Given the description of an element on the screen output the (x, y) to click on. 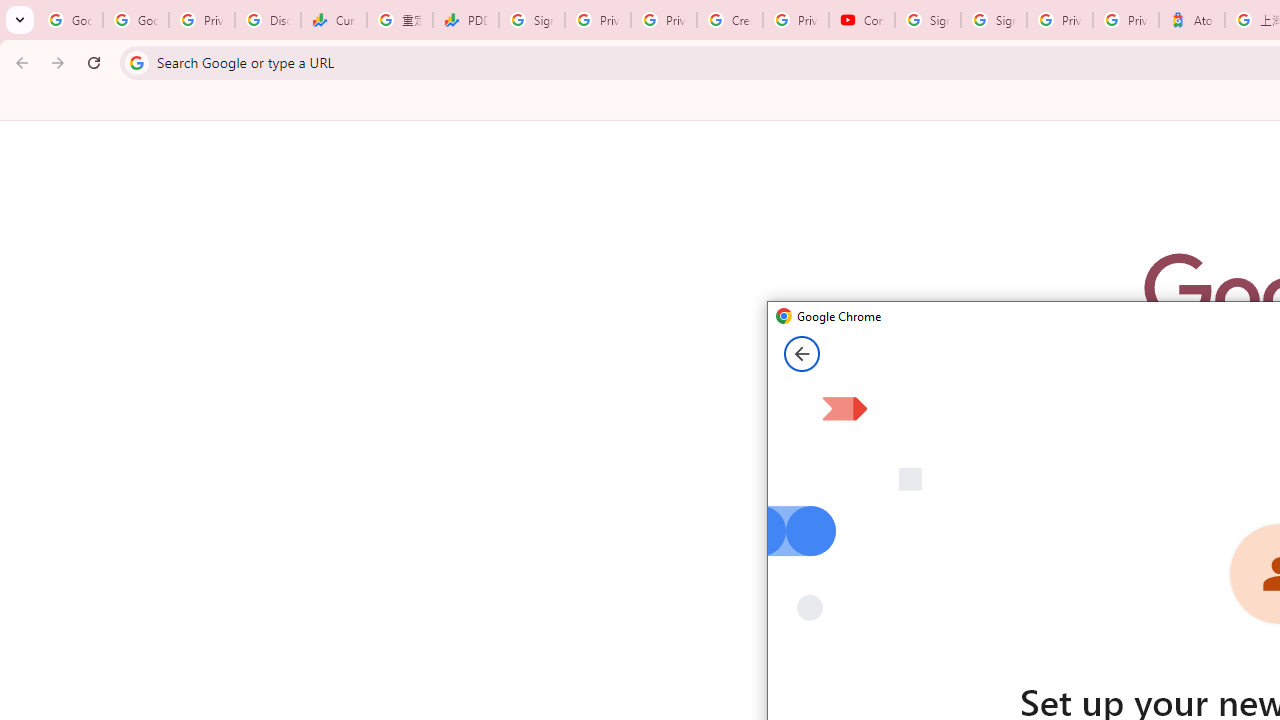
PDD Holdings Inc - ADR (PDD) Price & News - Google Finance (465, 20)
Google Workspace Admin Community (70, 20)
Currencies - Google Finance (333, 20)
Create your Google Account (729, 20)
Atour Hotel - Google hotels (1191, 20)
